Given the description of an element on the screen output the (x, y) to click on. 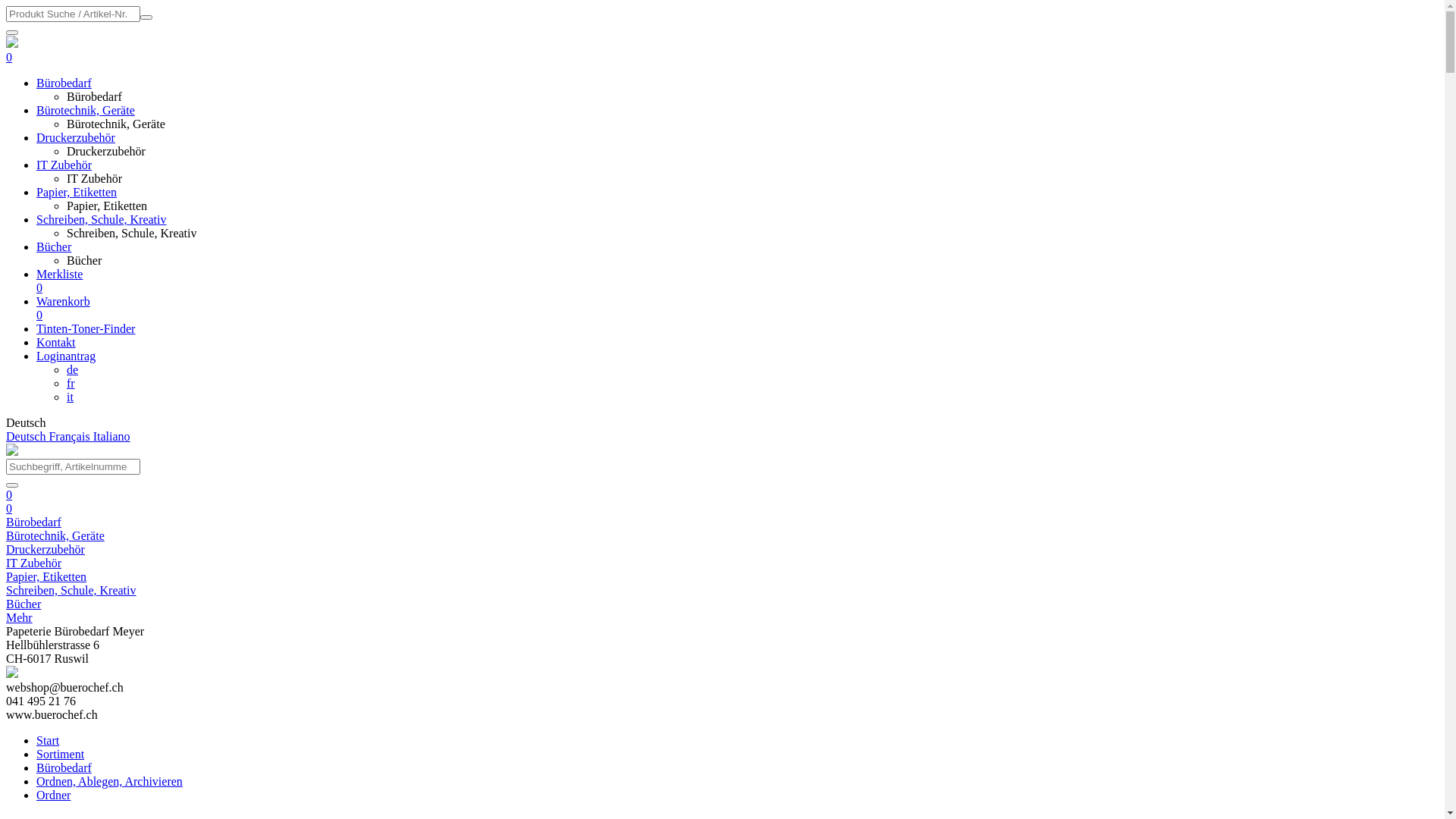
Merkliste
0 Element type: text (737, 280)
Papier, Etiketten Element type: text (76, 191)
0 Element type: text (9, 494)
Tinten-Toner-Finder Element type: text (85, 328)
Loginantrag Element type: text (65, 355)
0 Element type: text (9, 508)
Warenkorb
0 Element type: text (737, 308)
0 Element type: text (9, 56)
Start Element type: text (47, 740)
Kontakt Element type: text (55, 341)
Schreiben, Schule, Kreativ Element type: text (71, 589)
Deutsch Element type: text (27, 435)
fr Element type: text (70, 382)
Ordner Element type: text (53, 794)
Ordnen, Ablegen, Archivieren Element type: text (109, 781)
Papier, Etiketten Element type: text (46, 576)
Papier, Etiketten Element type: text (106, 205)
Schreiben, Schule, Kreativ Element type: text (101, 219)
Italiano Element type: text (111, 435)
Schreiben, Schule, Kreativ Element type: text (131, 232)
it Element type: text (69, 396)
Sortiment Element type: text (60, 753)
de Element type: text (72, 369)
Mehr Element type: text (19, 617)
